Given the description of an element on the screen output the (x, y) to click on. 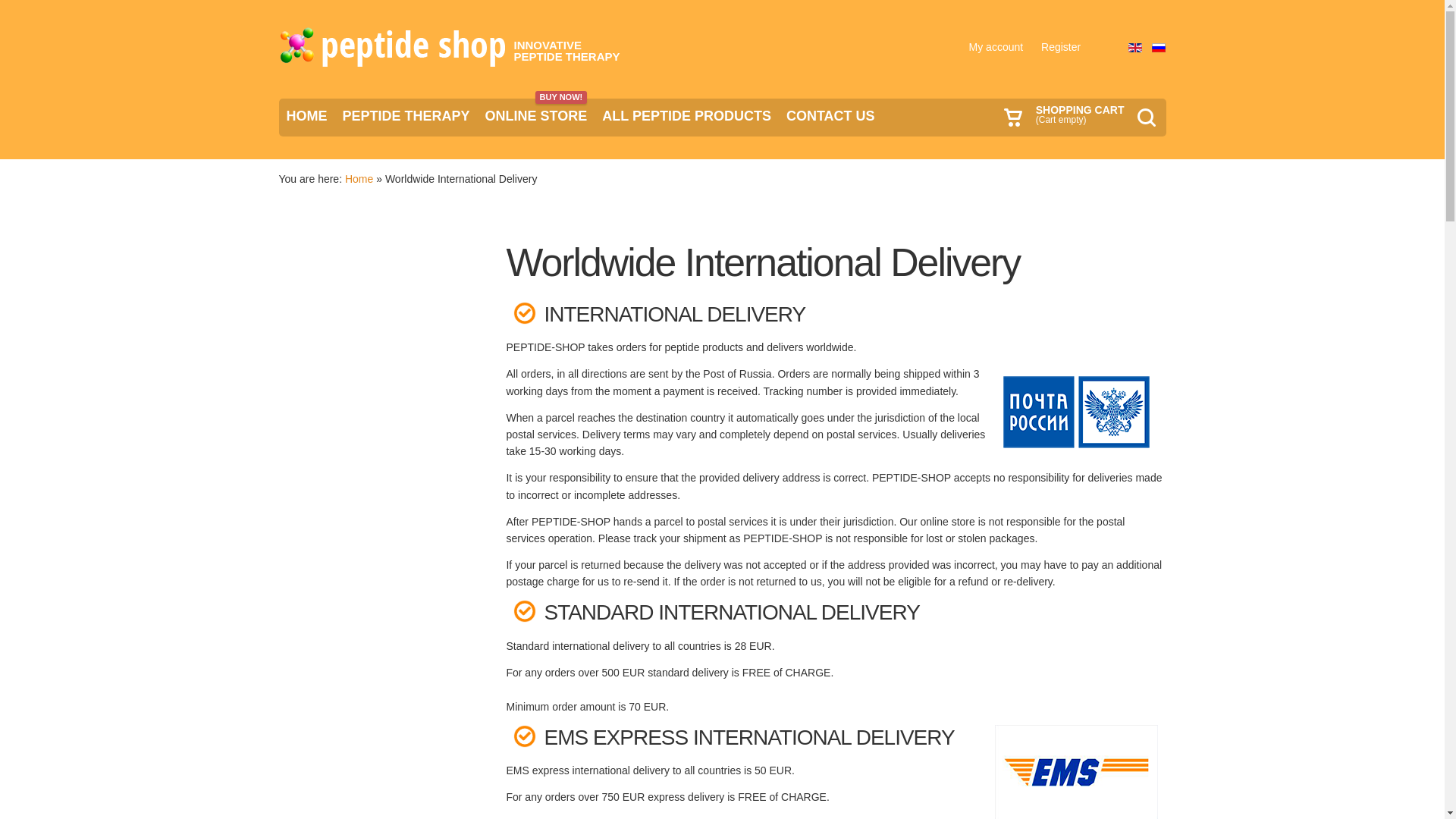
Register (1060, 46)
EMS Post (1075, 771)
My account (996, 46)
ONLINE STORE (536, 116)
HOME (306, 116)
Post of Russia (1075, 411)
PEPTIDE THERAPY (536, 116)
